Given the description of an element on the screen output the (x, y) to click on. 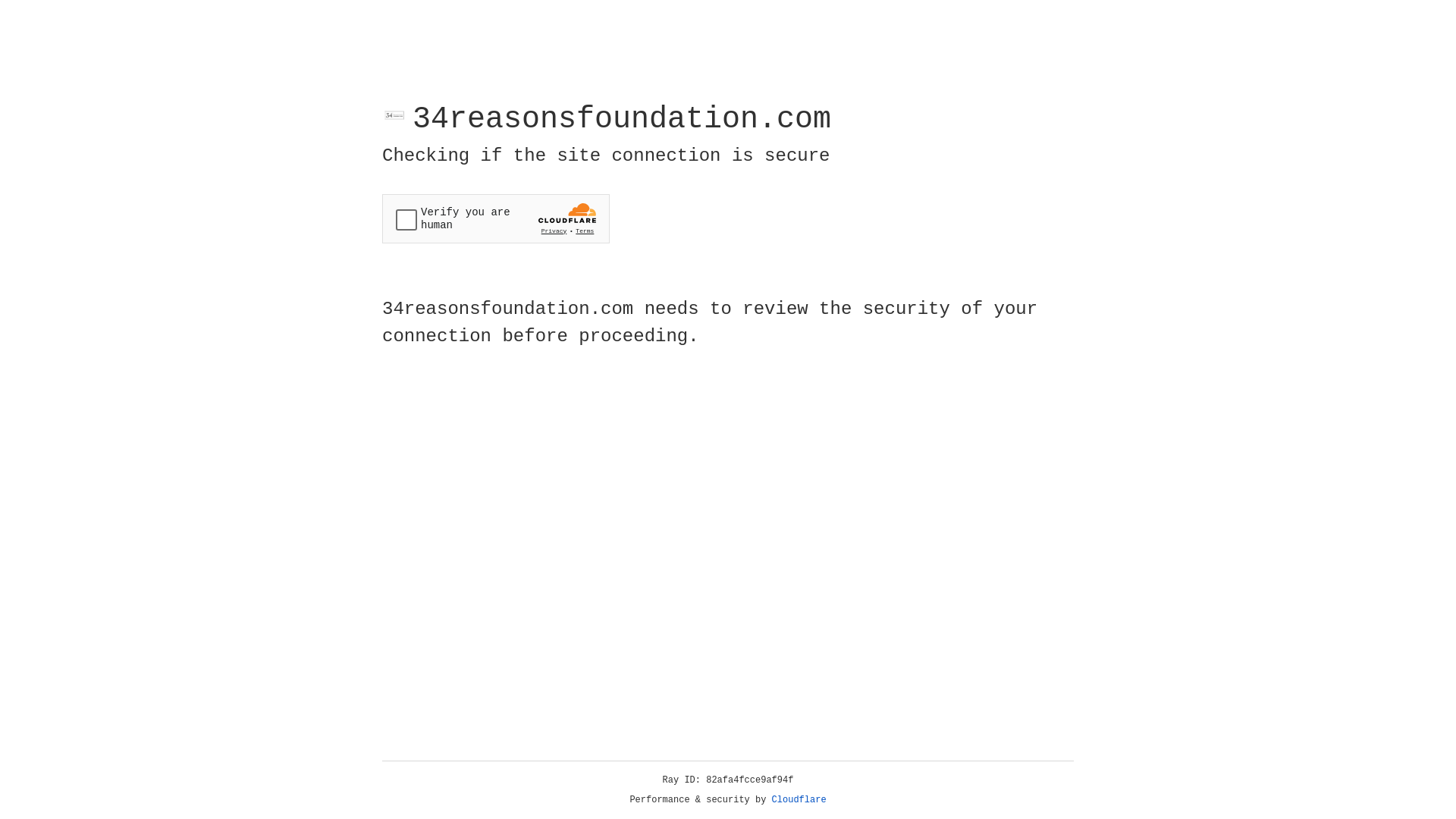
Widget containing a Cloudflare security challenge Element type: hover (495, 218)
Cloudflare Element type: text (798, 799)
